Given the description of an element on the screen output the (x, y) to click on. 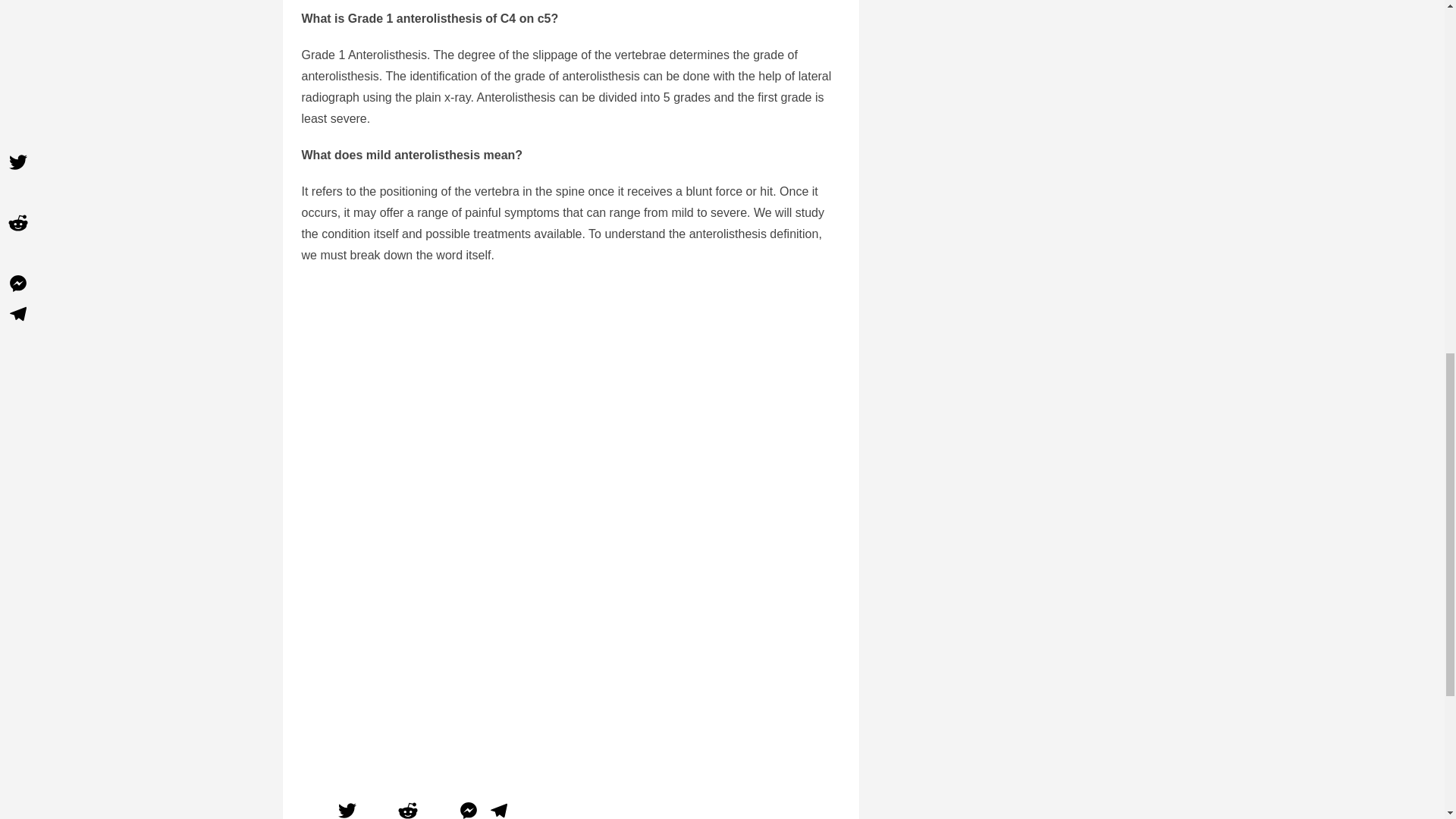
Reddit (408, 808)
Telegram (498, 808)
Twitter (346, 808)
WhatsApp (437, 808)
WhatsApp (437, 808)
Facebook (316, 808)
Reddit (408, 808)
Email (377, 808)
Facebook (316, 808)
Messenger (467, 808)
Twitter (346, 808)
Email (377, 808)
Telegram (498, 808)
Messenger (467, 808)
